Given the description of an element on the screen output the (x, y) to click on. 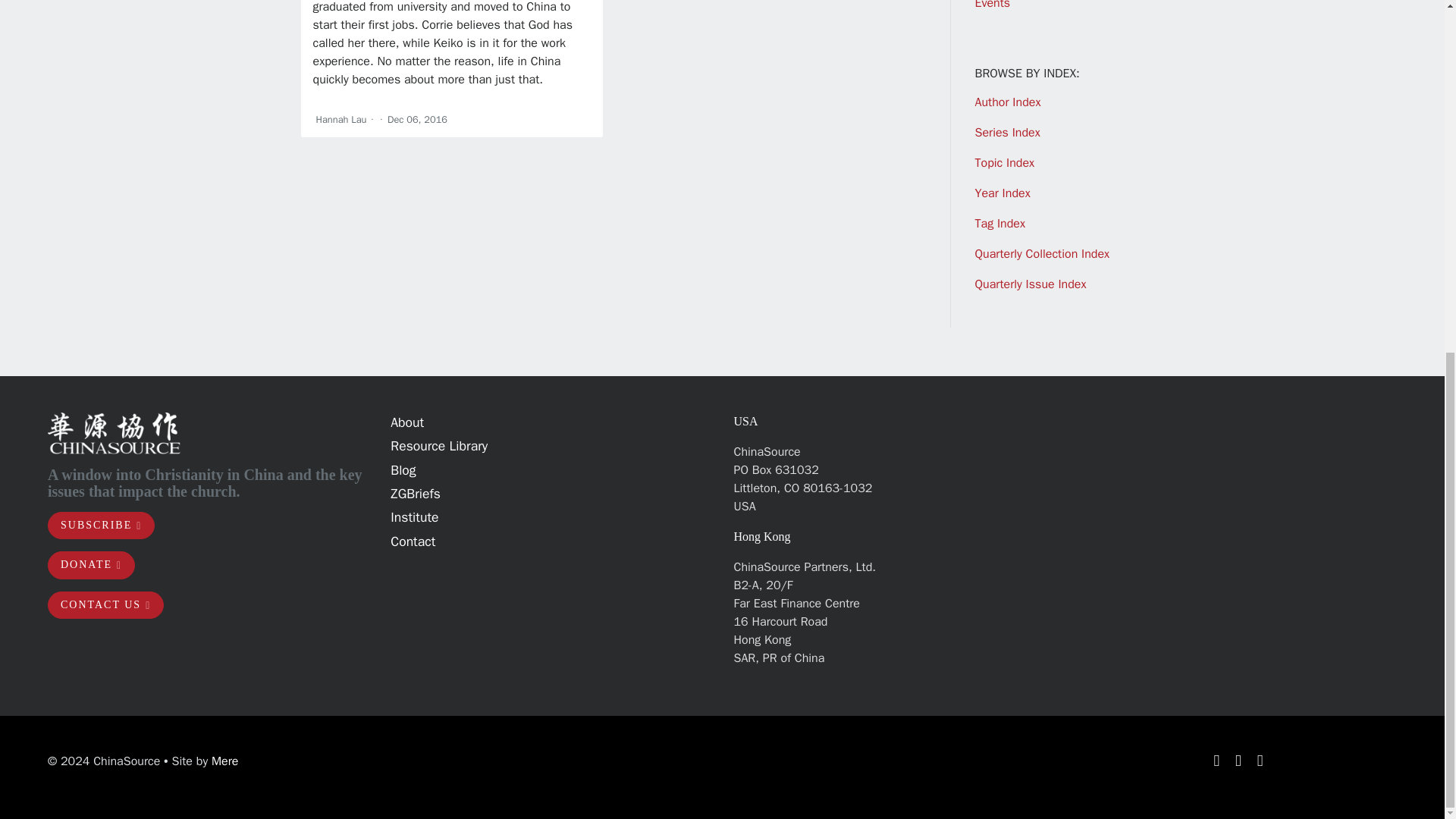
Series Index (1008, 132)
Quarterly Issue Index (1030, 283)
DONATE (91, 565)
About (406, 422)
Quarterly Collection Index (1042, 253)
Topic Index (1005, 162)
Year Index (1002, 192)
Tag Index (1000, 223)
CONTACT US (105, 605)
Events (992, 5)
Author Index (1008, 102)
SUBSCRIBE (101, 525)
